Given the description of an element on the screen output the (x, y) to click on. 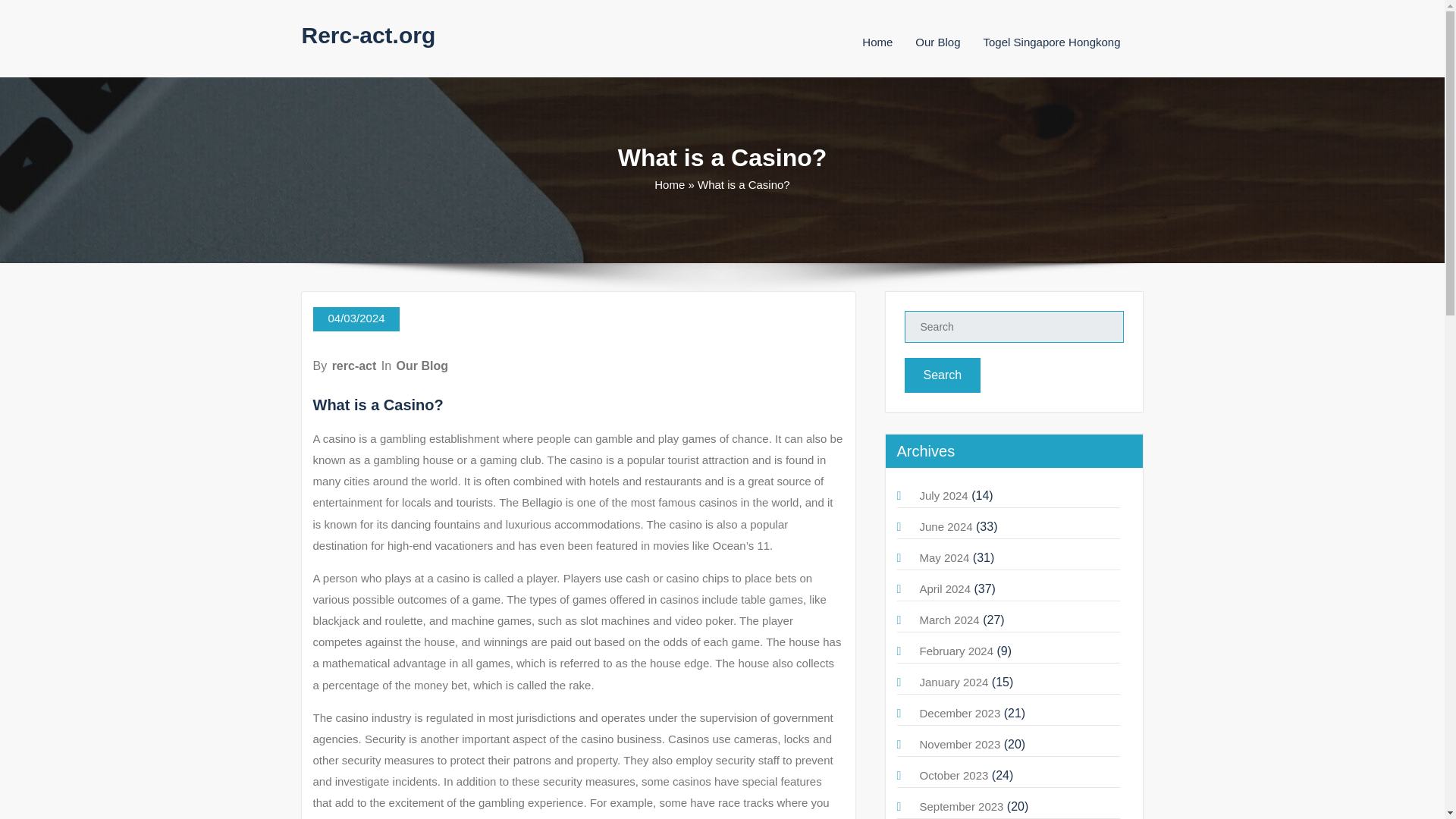
Togel Singapore Hongkong (1052, 41)
rerc-act (354, 365)
September 2023 (960, 806)
Our Blog (937, 41)
Our Blog (421, 365)
June 2024 (945, 526)
Home (668, 184)
Home (876, 41)
October 2023 (953, 775)
July 2024 (943, 495)
April 2024 (944, 588)
Search (941, 375)
Rerc-act.org (368, 34)
May 2024 (943, 557)
March 2024 (948, 619)
